Given the description of an element on the screen output the (x, y) to click on. 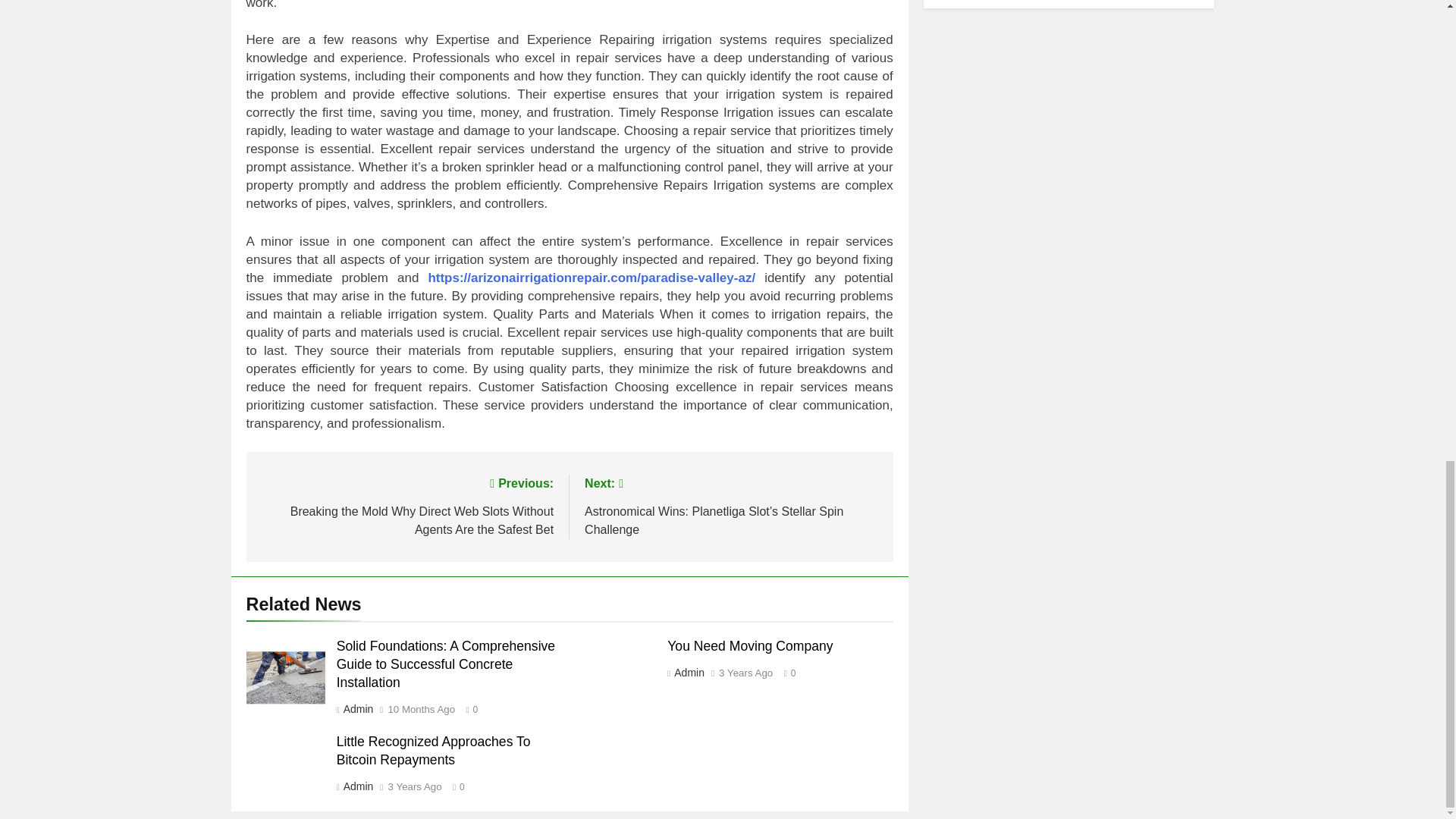
10 Months Ago (420, 709)
3 Years Ago (746, 673)
0 (786, 671)
Admin (357, 786)
Admin (688, 672)
0 (468, 707)
3 Years Ago (414, 787)
Little Recognized Approaches To Bitcoin Repayments (433, 750)
0 (454, 785)
You Need Moving Company (749, 645)
Admin (357, 708)
